Given the description of an element on the screen output the (x, y) to click on. 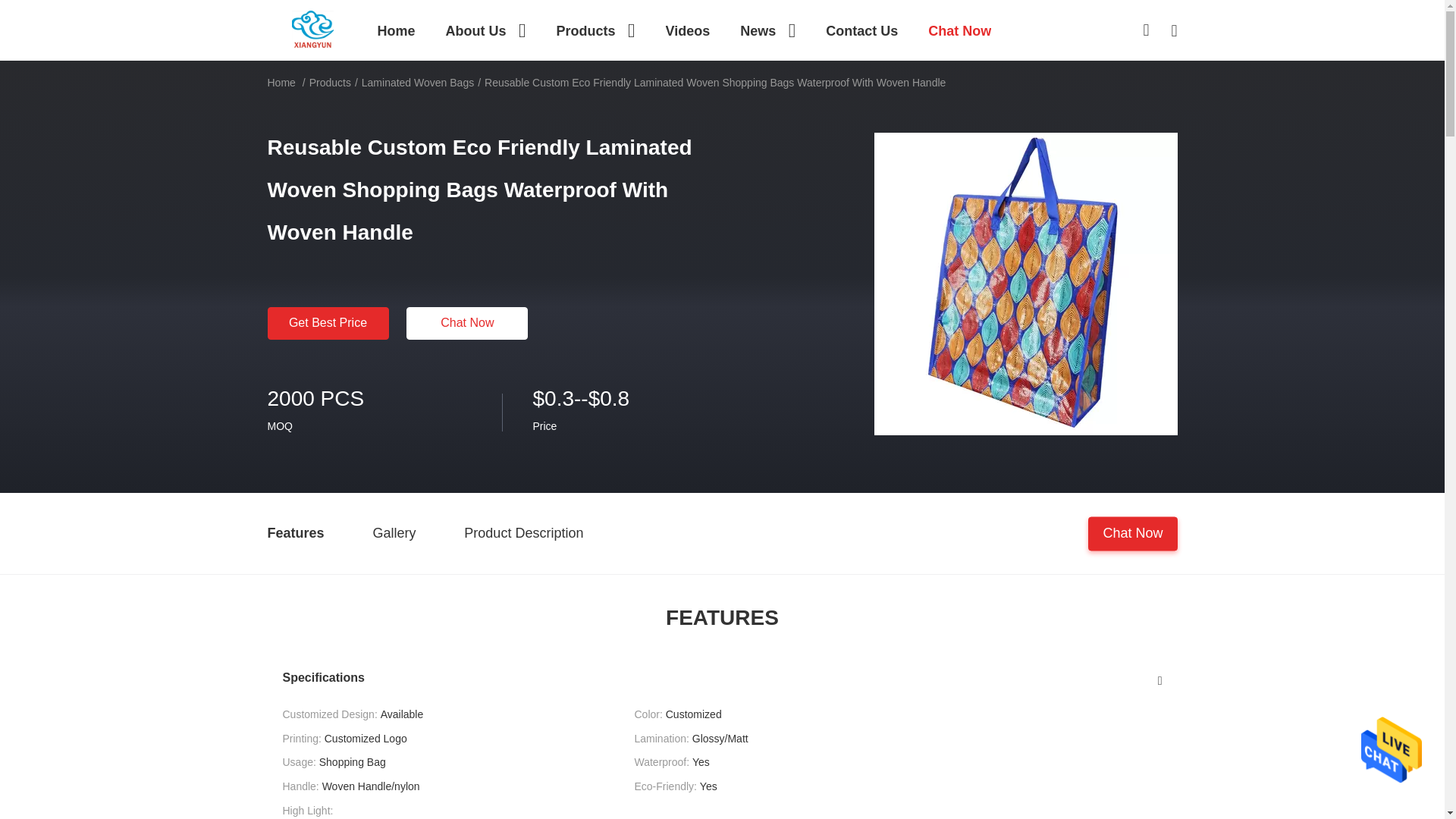
Products (595, 30)
About Us (485, 30)
Dongyang Xiangyun Weave Bag Factory (312, 28)
About Us (485, 30)
Products (595, 30)
